Given the description of an element on the screen output the (x, y) to click on. 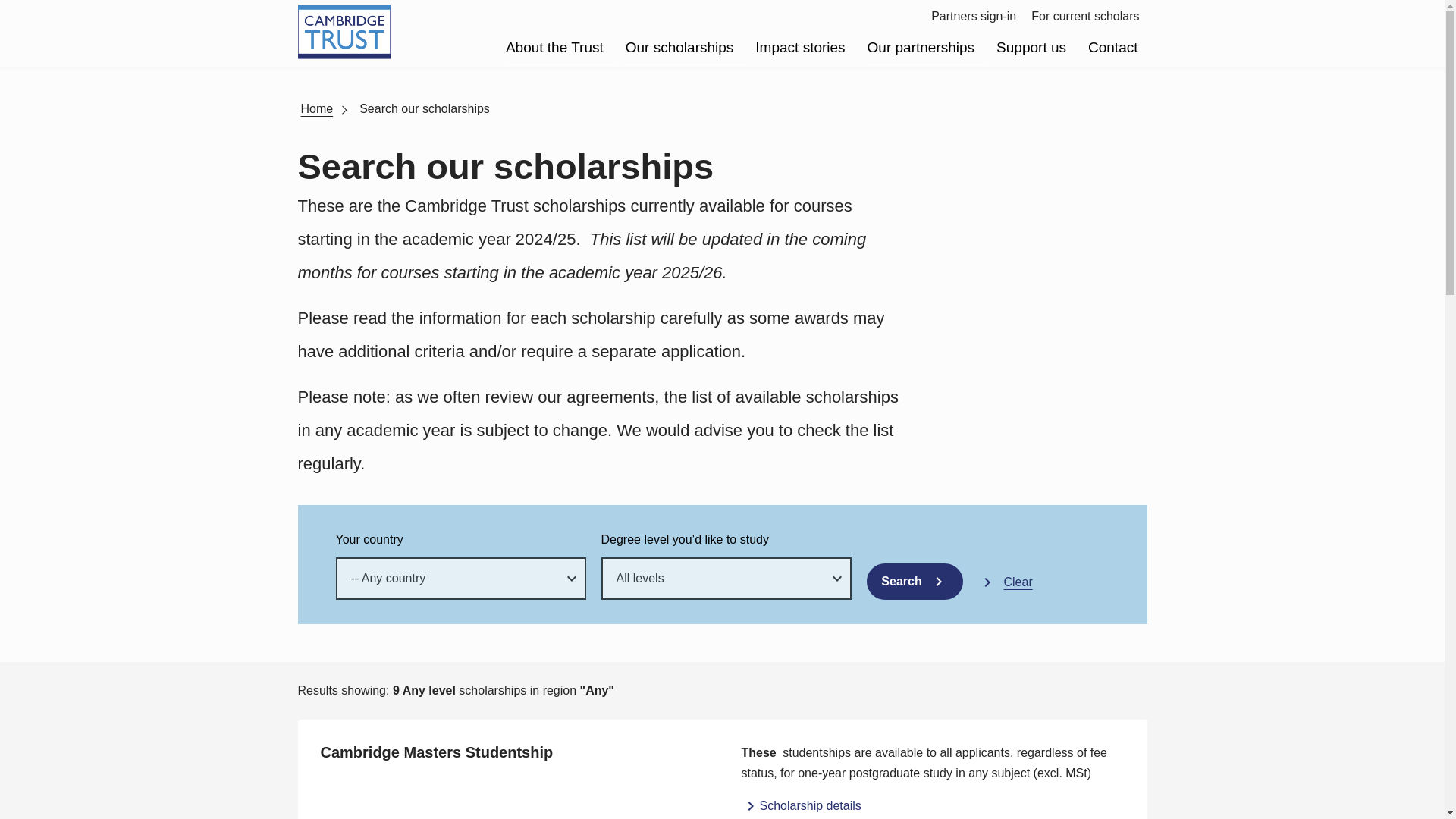
Home (316, 108)
Our partnerships (921, 49)
Search (914, 581)
Clear (1005, 581)
Support us (1031, 49)
About the Trust (554, 49)
Contact (1112, 49)
Search our scholarships (424, 108)
Impact stories (799, 49)
Partners sign-in (973, 15)
